Given the description of an element on the screen output the (x, y) to click on. 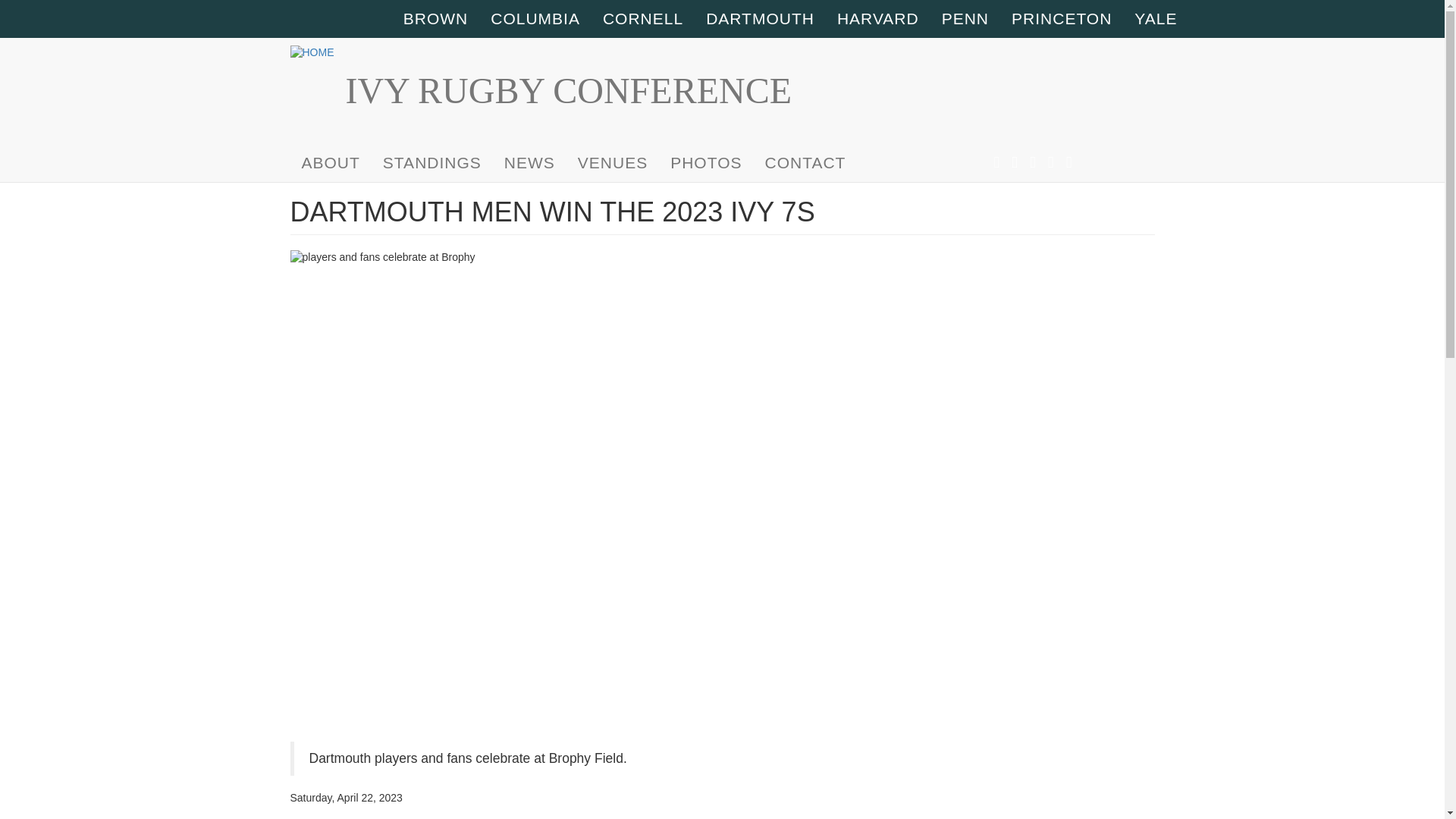
Home (317, 52)
IVY RUGBY CONFERENCE (567, 90)
NEWS (529, 162)
STANDINGS (432, 162)
PHOTOS (705, 162)
CONTACT (804, 162)
VENUES (612, 162)
ABOUT (330, 162)
Home (567, 90)
